Given the description of an element on the screen output the (x, y) to click on. 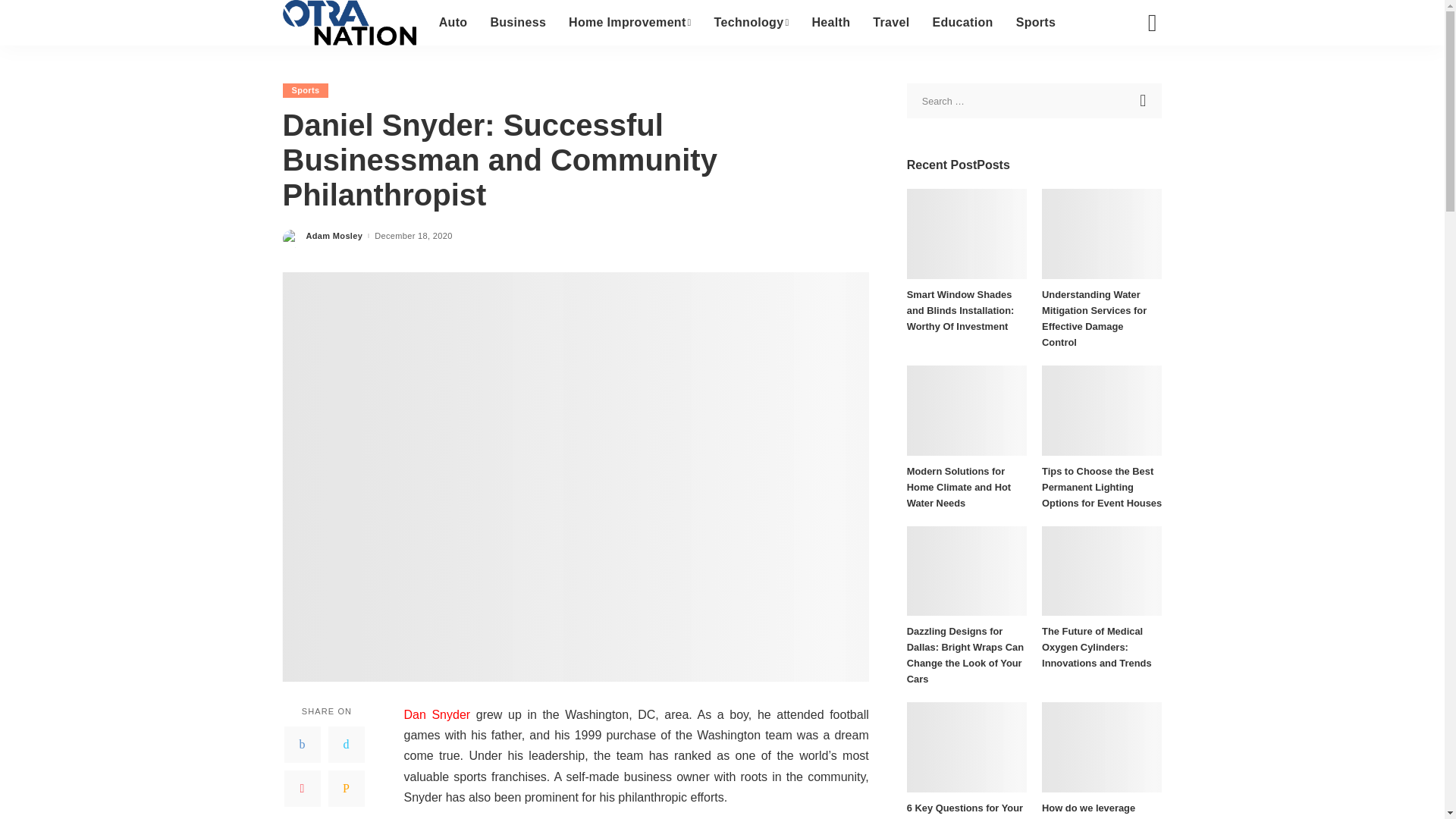
Business (518, 22)
Facebook (301, 744)
Home Improvement (630, 22)
Health (830, 22)
Technology (751, 22)
Auto (453, 22)
Twitter (345, 744)
Sports (305, 90)
Pinterest (301, 788)
Search (1143, 100)
